Given the description of an element on the screen output the (x, y) to click on. 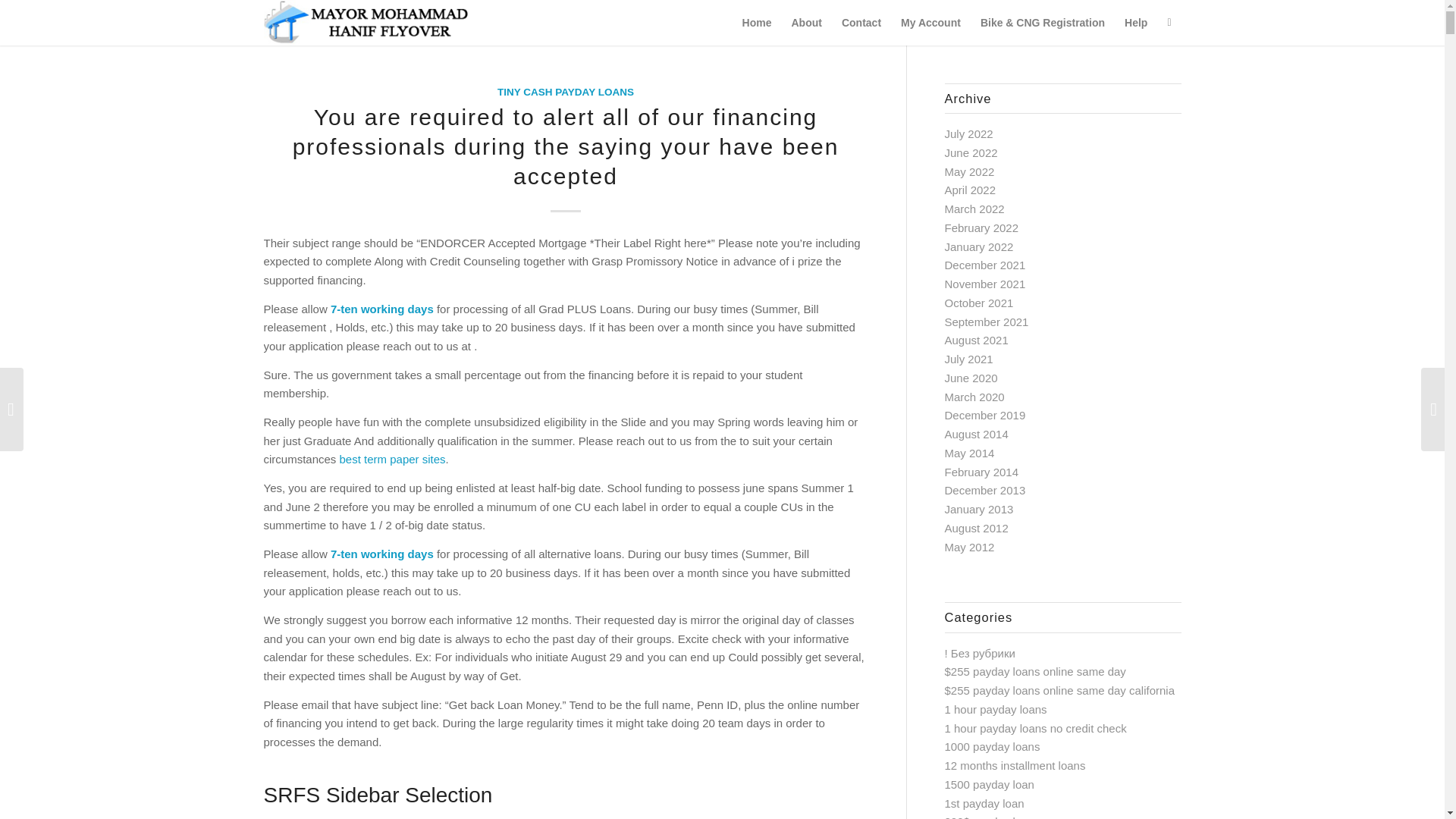
TINY CASH PAYDAY LOANS (565, 91)
Contact (861, 22)
Home (756, 22)
About (805, 22)
My Account (931, 22)
Help (1136, 22)
best term paper sites (392, 459)
